Given the description of an element on the screen output the (x, y) to click on. 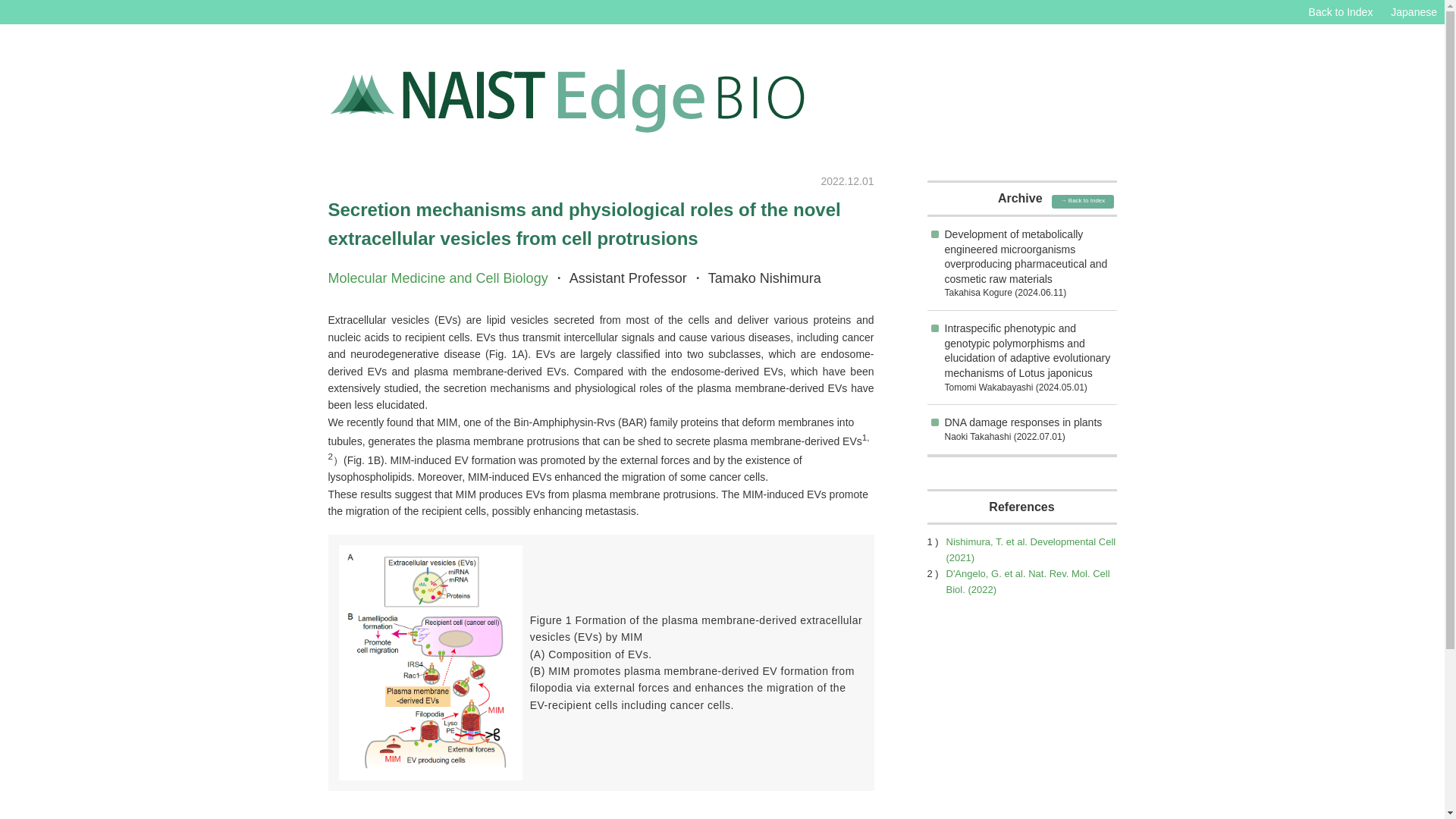
Japanese (1413, 11)
Back to Index (1340, 11)
Molecular Medicine and Cell Biology (437, 278)
